Given the description of an element on the screen output the (x, y) to click on. 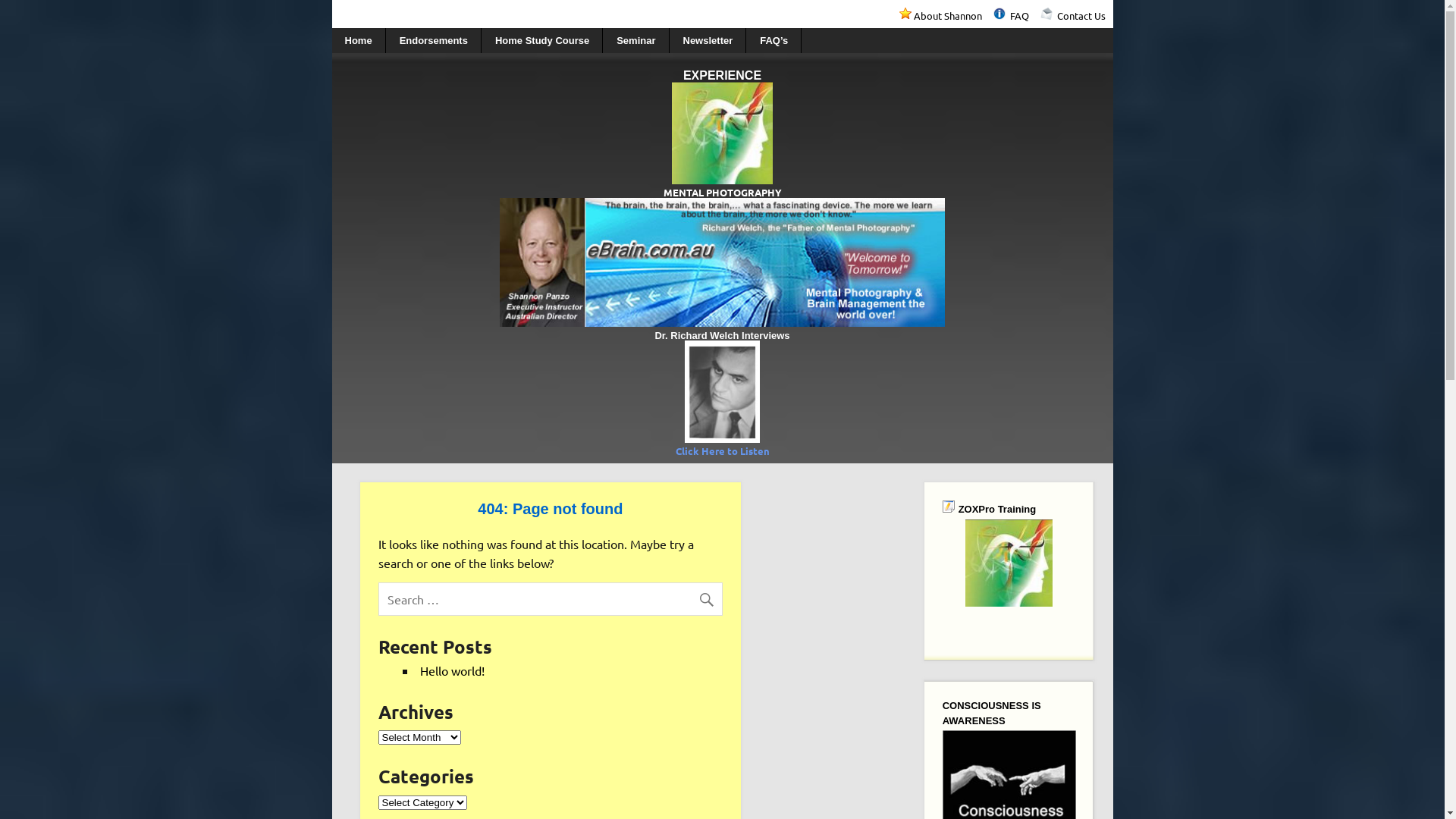
Endorsements Element type: text (433, 40)
Hello world! Element type: text (452, 669)
Home Study Course Element type: text (542, 40)
Home Element type: text (358, 40)
Newsletter Element type: text (708, 40)
About Shannon      Element type: text (952, 15)
FAQ      Element type: text (1025, 15)
Click Here to Listen Element type: text (721, 449)
Contact Us Element type: text (1081, 15)
Seminar Element type: text (635, 40)
